Given the description of an element on the screen output the (x, y) to click on. 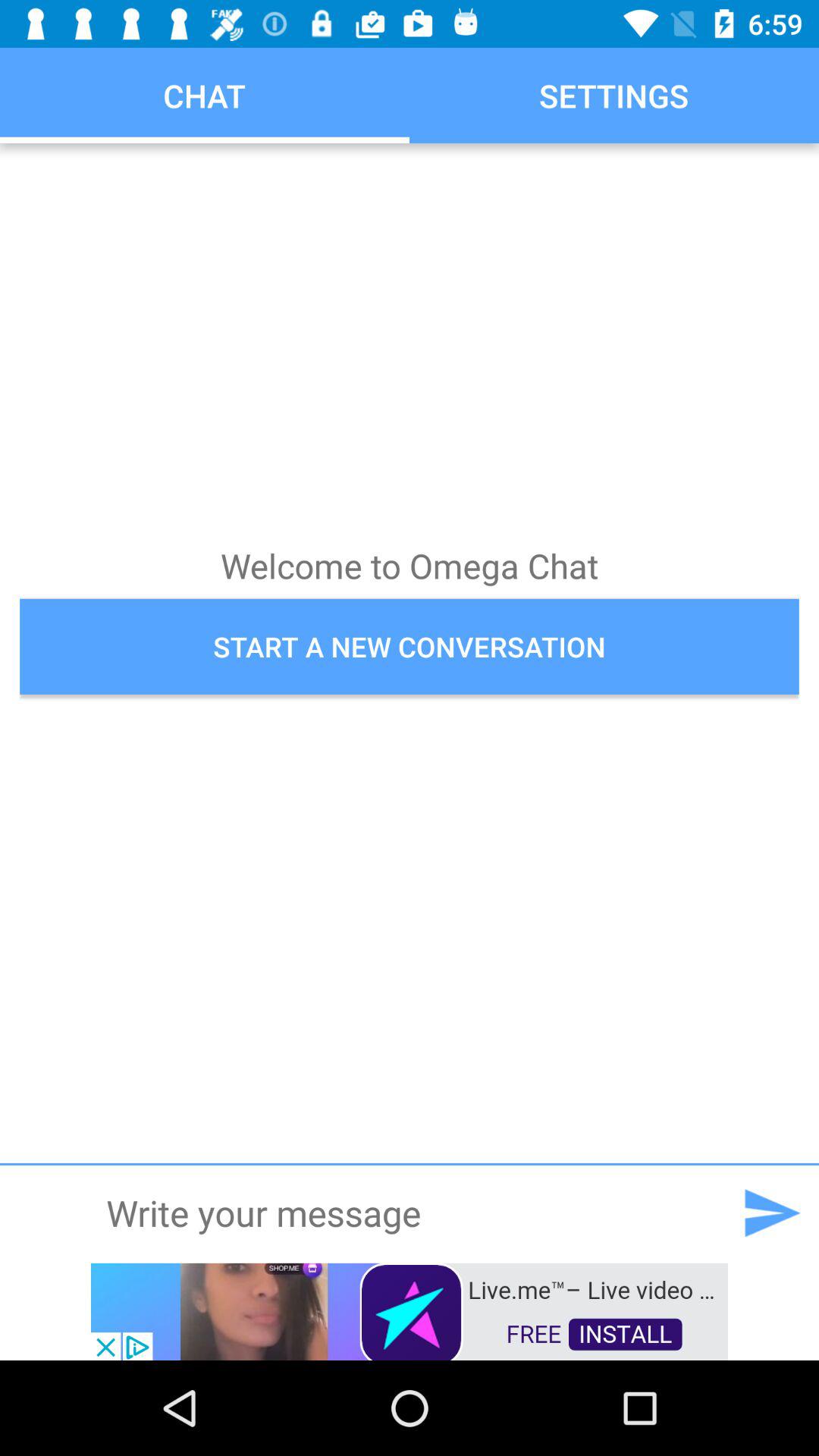
chat (409, 1212)
